Given the description of an element on the screen output the (x, y) to click on. 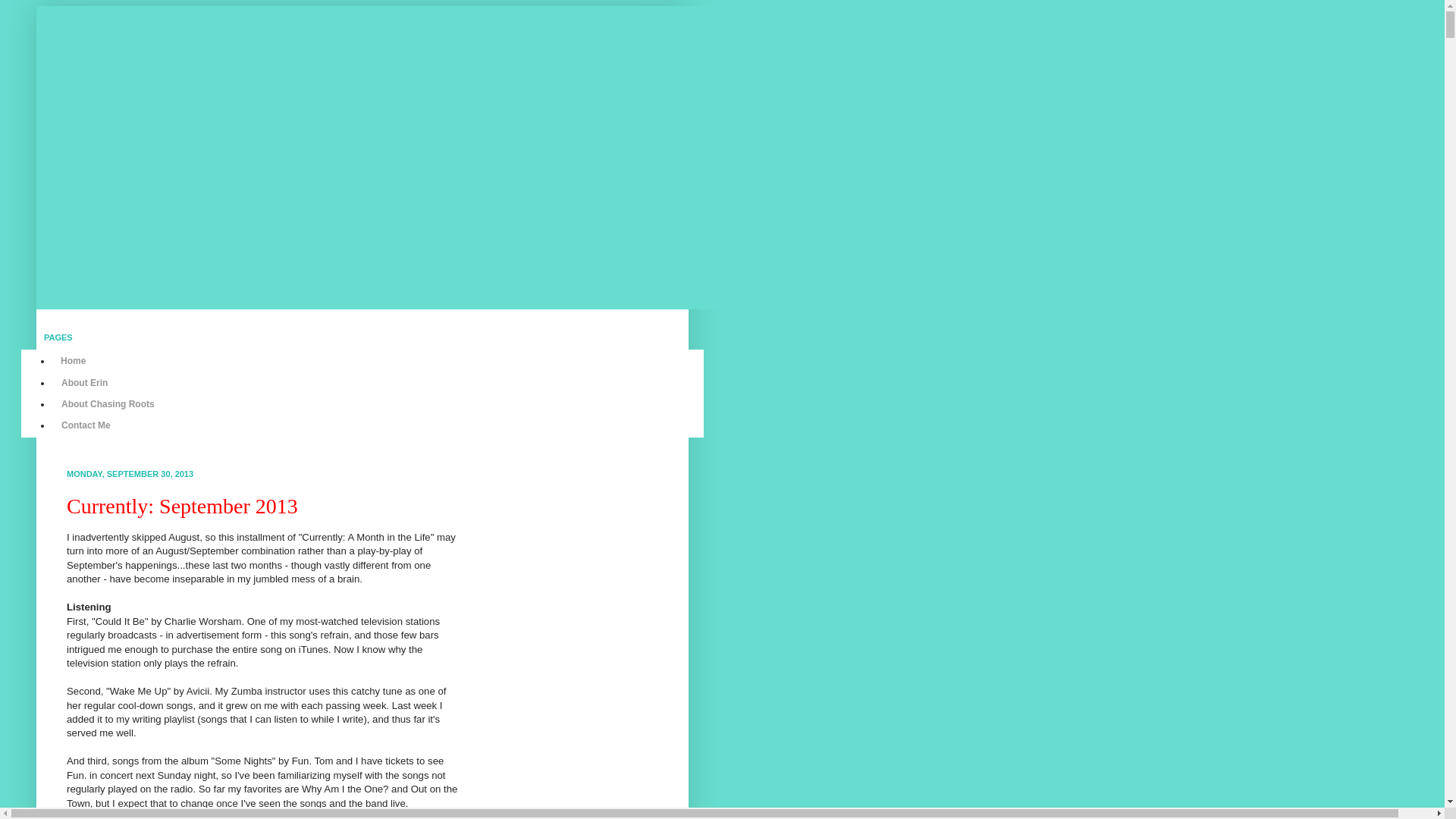
About Erin (83, 382)
Currently: September 2013 (182, 505)
Contact Me (85, 424)
About Chasing Roots (107, 403)
Home (73, 360)
